Given the description of an element on the screen output the (x, y) to click on. 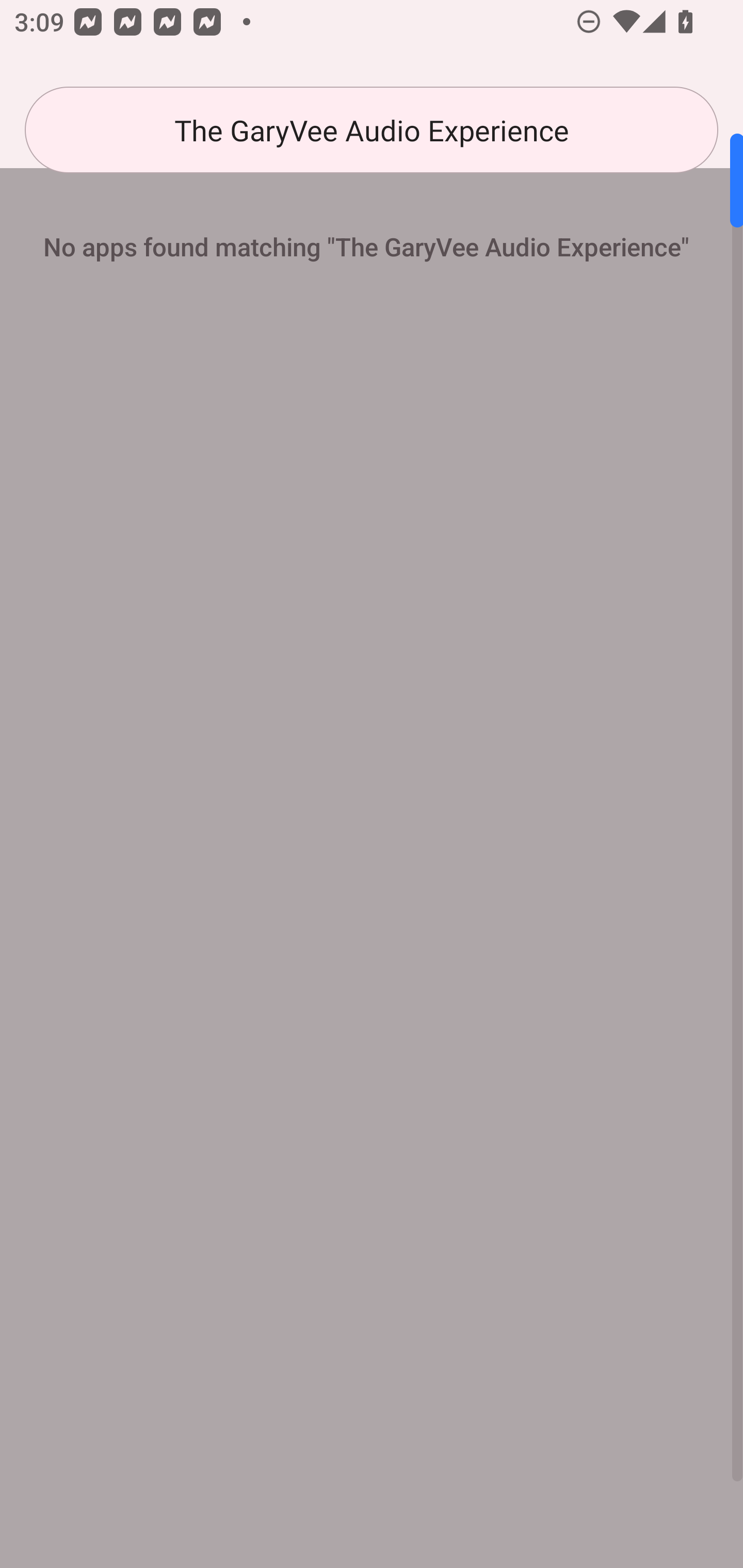
The GaryVee Audio Experience (371, 130)
